Given the description of an element on the screen output the (x, y) to click on. 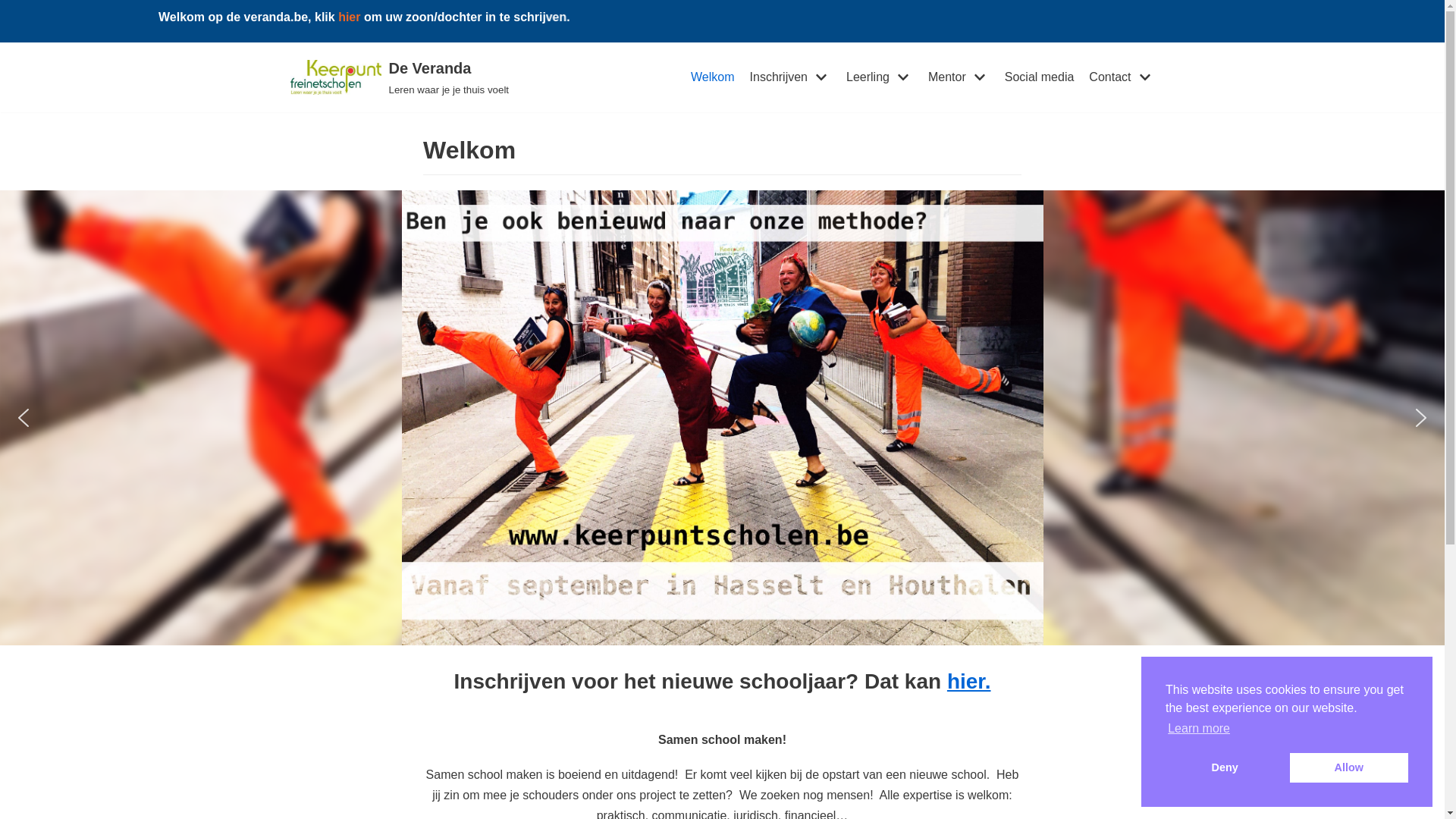
Skip to content Element type: text (15, 73)
Social media Element type: text (1039, 77)
Mentor Element type: text (958, 77)
De Veranda
Leren waar je je thuis voelt Element type: text (398, 77)
Allow Element type: text (1348, 767)
hier. Element type: text (969, 681)
Leerling Element type: text (879, 77)
Deny Element type: text (1224, 767)
Inschrijven Element type: text (790, 77)
Contact Element type: text (1121, 77)
Welkom Element type: text (712, 77)
hier Element type: text (427, 16)
Learn more Element type: text (1198, 728)
